Given the description of an element on the screen output the (x, y) to click on. 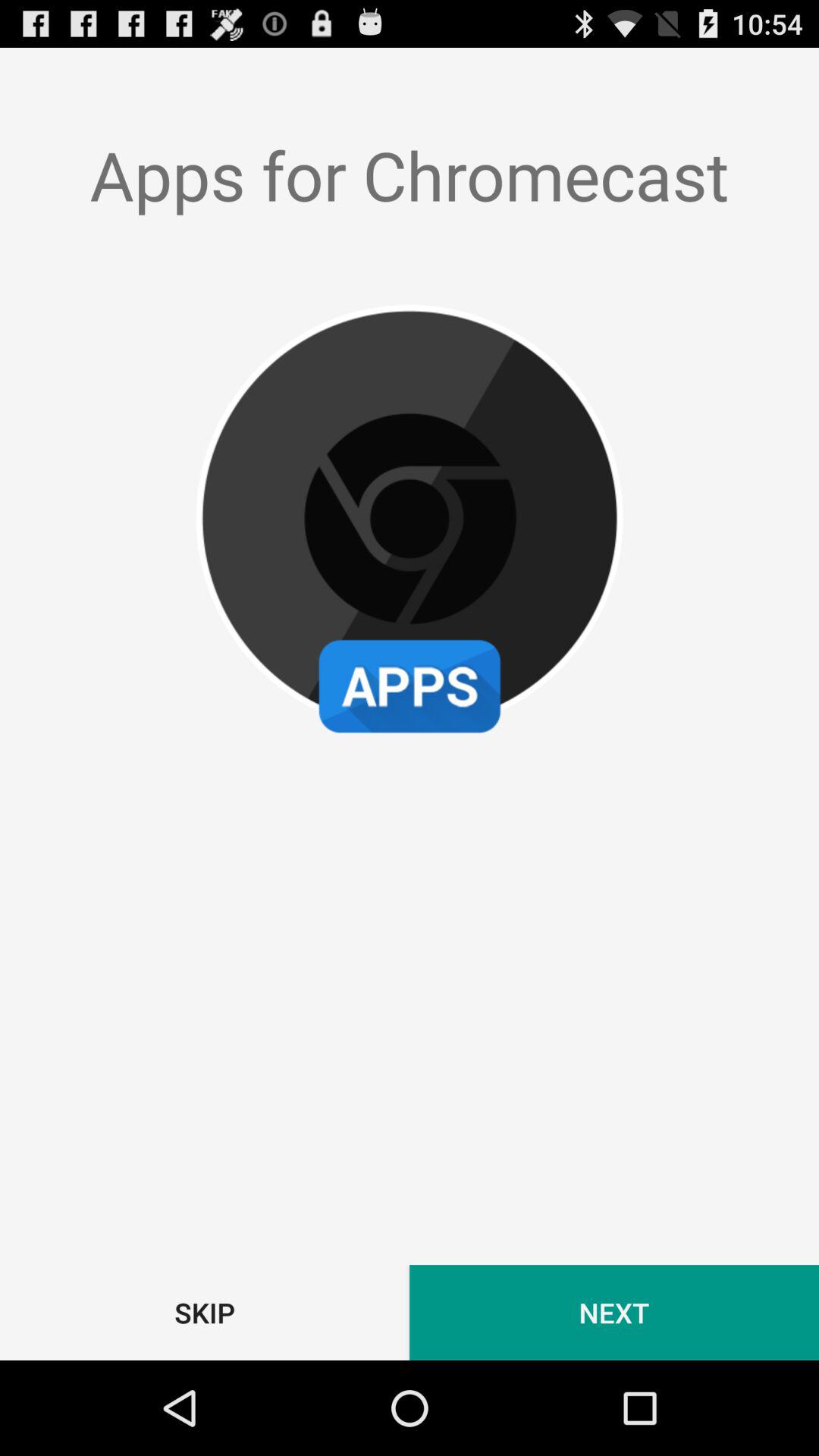
turn off icon next to the next item (204, 1312)
